Given the description of an element on the screen output the (x, y) to click on. 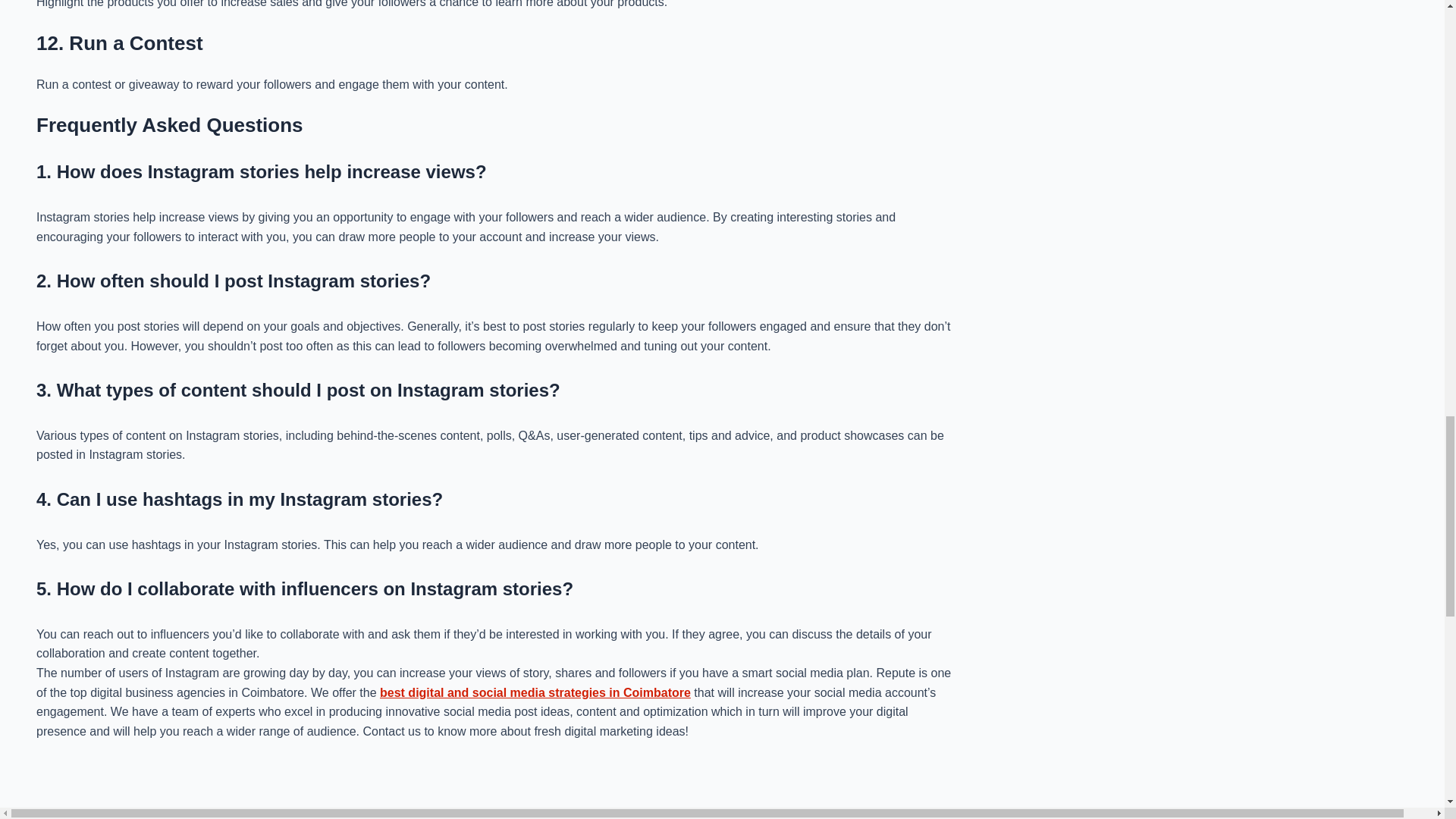
best digital and social media strategies in Coimbatore (535, 692)
